Given the description of an element on the screen output the (x, y) to click on. 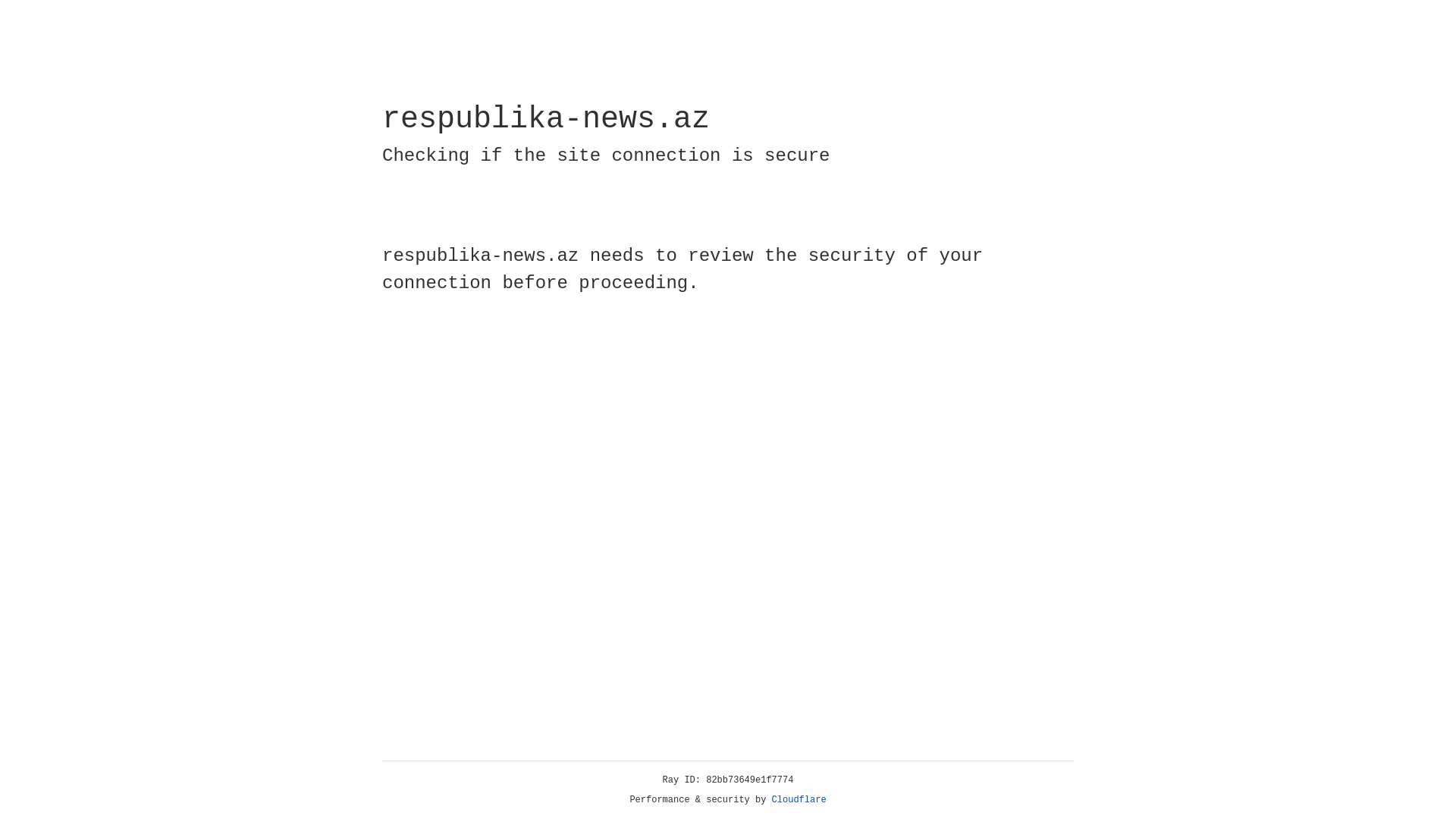
Cloudflare Element type: text (798, 799)
